Given the description of an element on the screen output the (x, y) to click on. 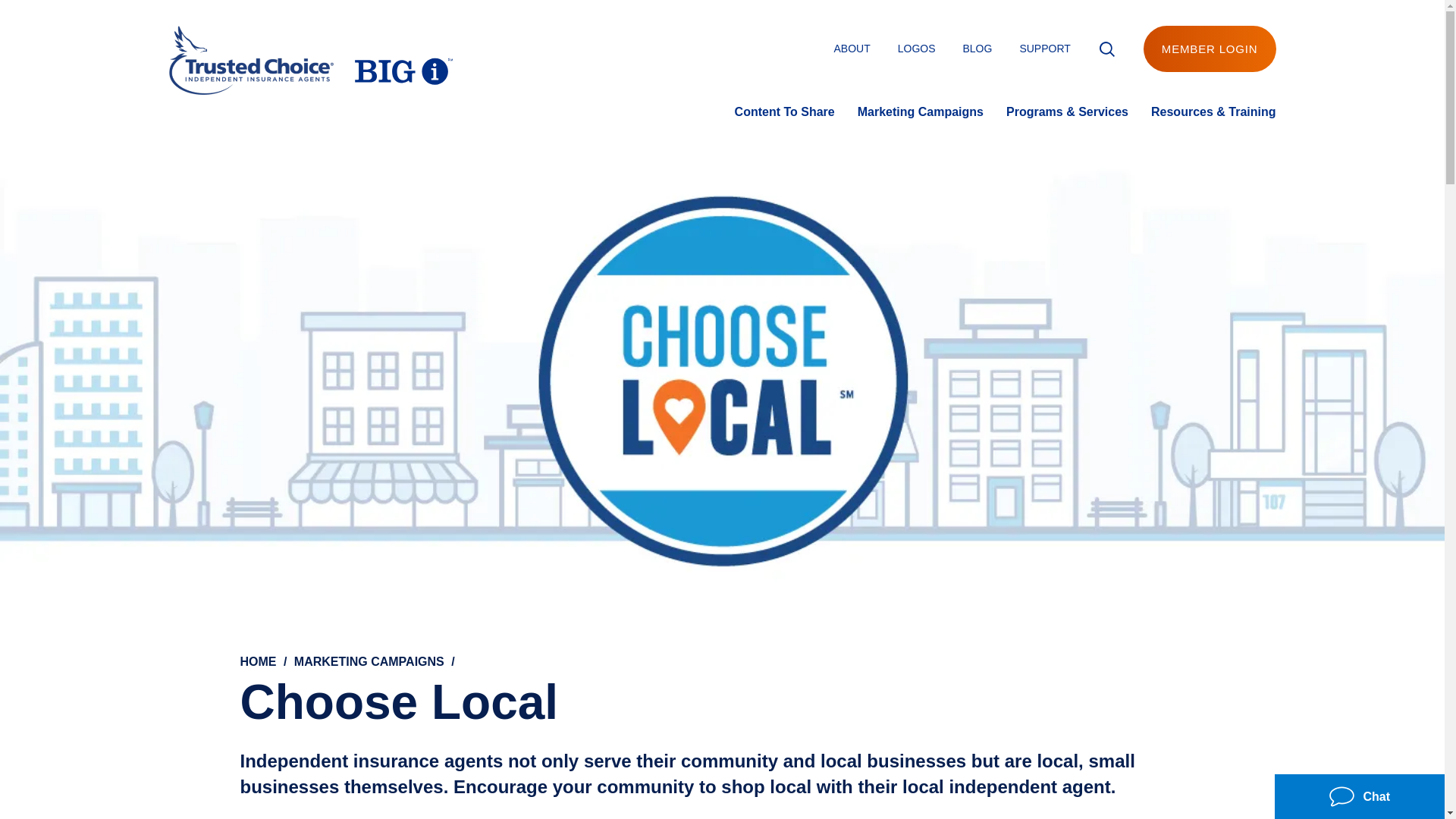
SUPPORT (1044, 48)
Homepage (310, 63)
Marketing Campaigns (920, 111)
Content To Share (784, 111)
BLOG (977, 48)
LOGOS (917, 48)
ABOUT (850, 48)
MEMBER LOGIN (1209, 48)
